Given the description of an element on the screen output the (x, y) to click on. 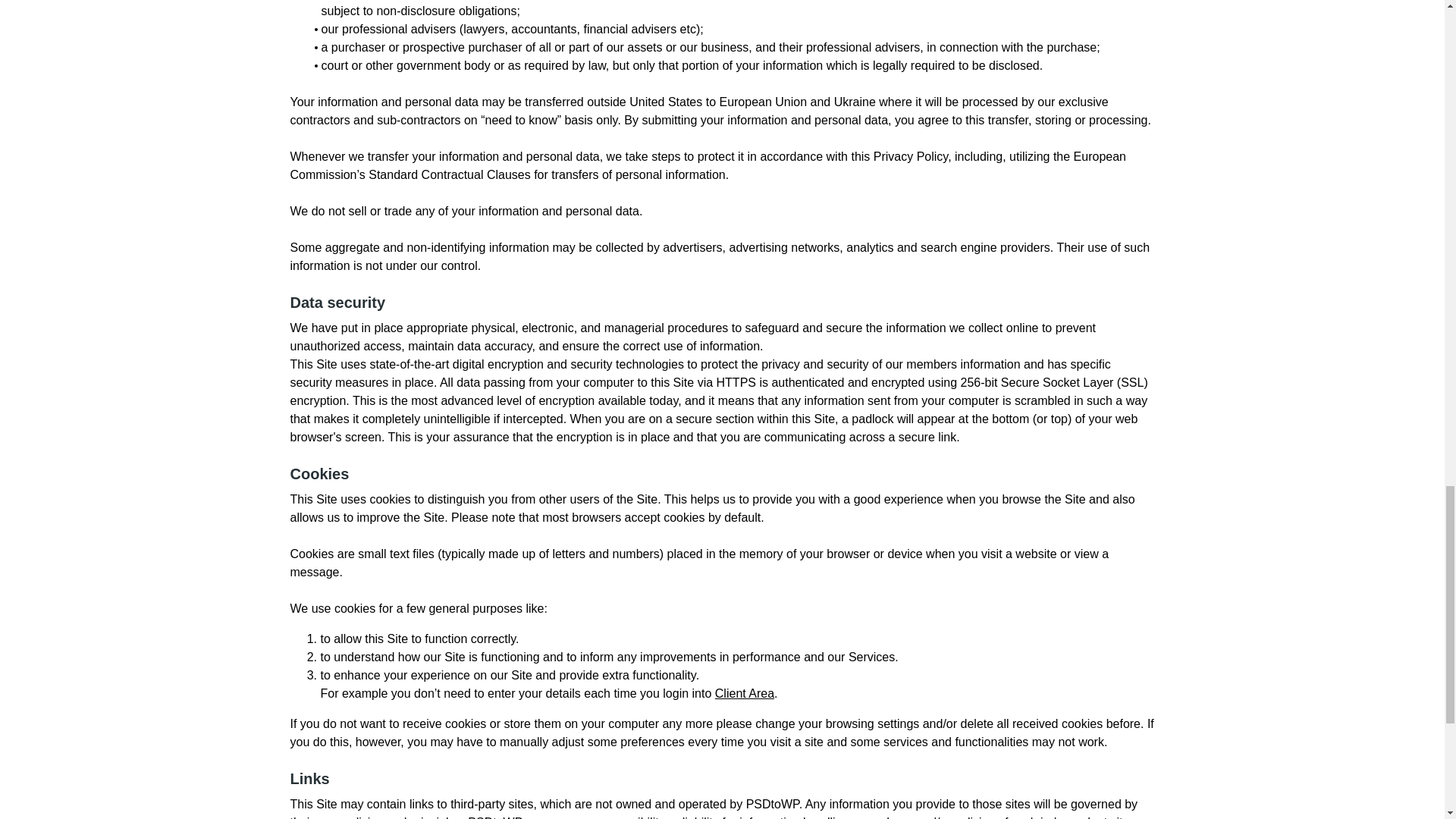
Client Area (744, 693)
